Given the description of an element on the screen output the (x, y) to click on. 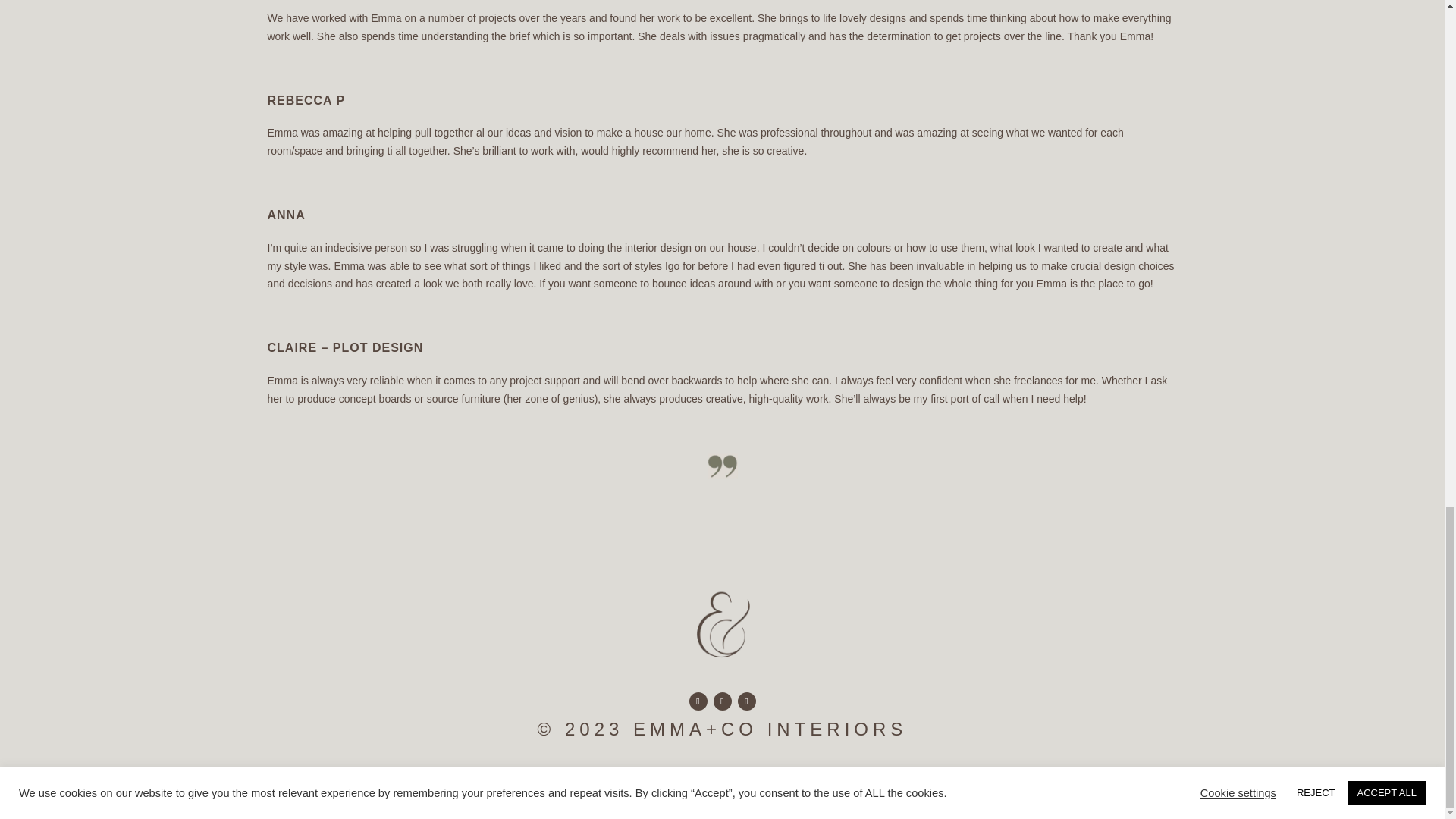
Follow on Instagram (721, 701)
Sitescribed (749, 770)
Follow on Houzz (697, 701)
Follow on Pinterest (745, 701)
Screenshot 2023-05-02 at 21.08.39 (721, 458)
3 (722, 663)
